Given the description of an element on the screen output the (x, y) to click on. 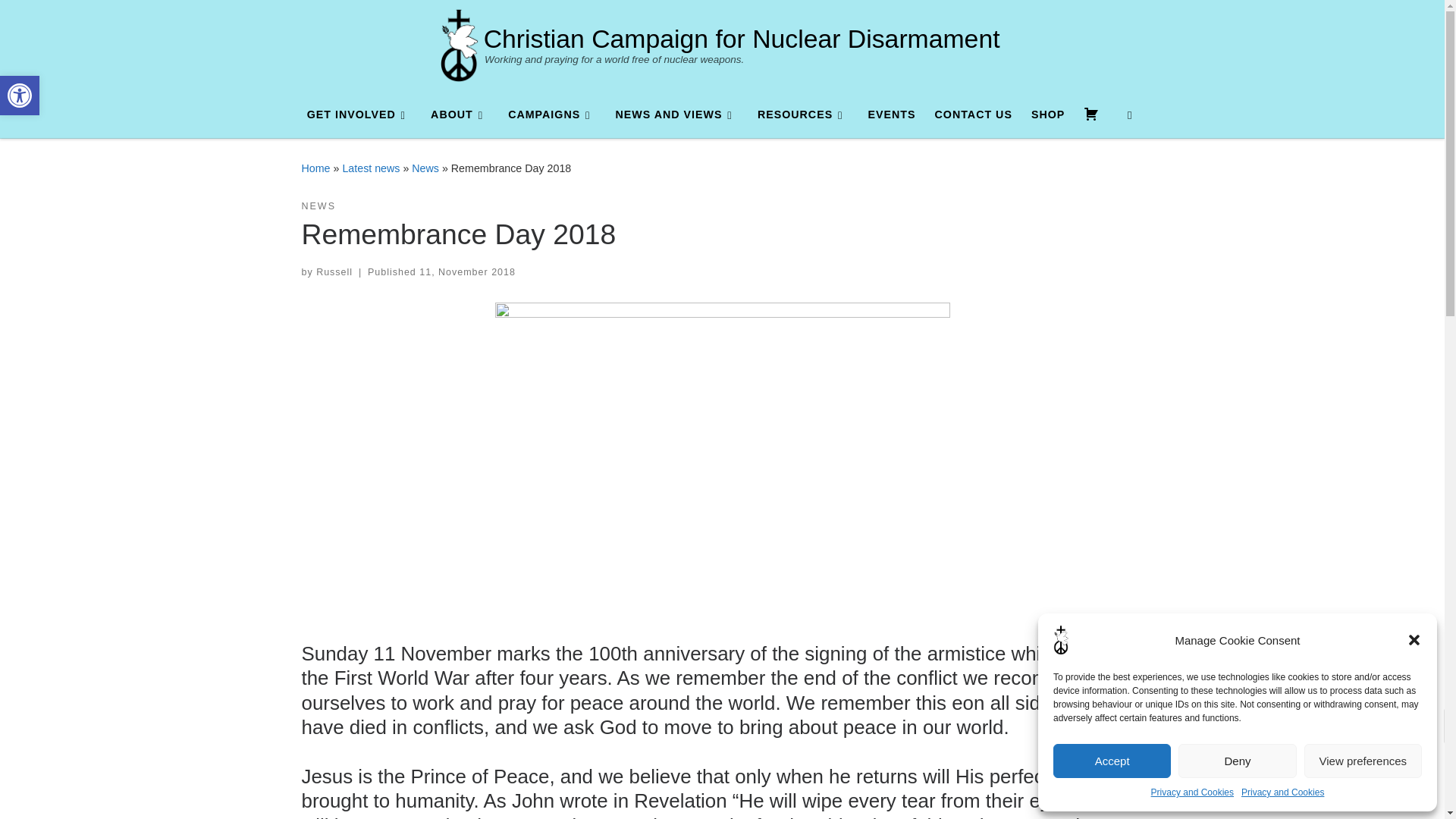
View all posts in News (318, 206)
CAMPAIGNS (552, 114)
Latest news (370, 168)
View preferences (19, 95)
Privacy and Cookies (1363, 760)
ABOUT (1282, 792)
Christian Campaign for Nuclear Disarmament (460, 114)
Accessibility Tools (741, 39)
Skip to content (19, 95)
